Given the description of an element on the screen output the (x, y) to click on. 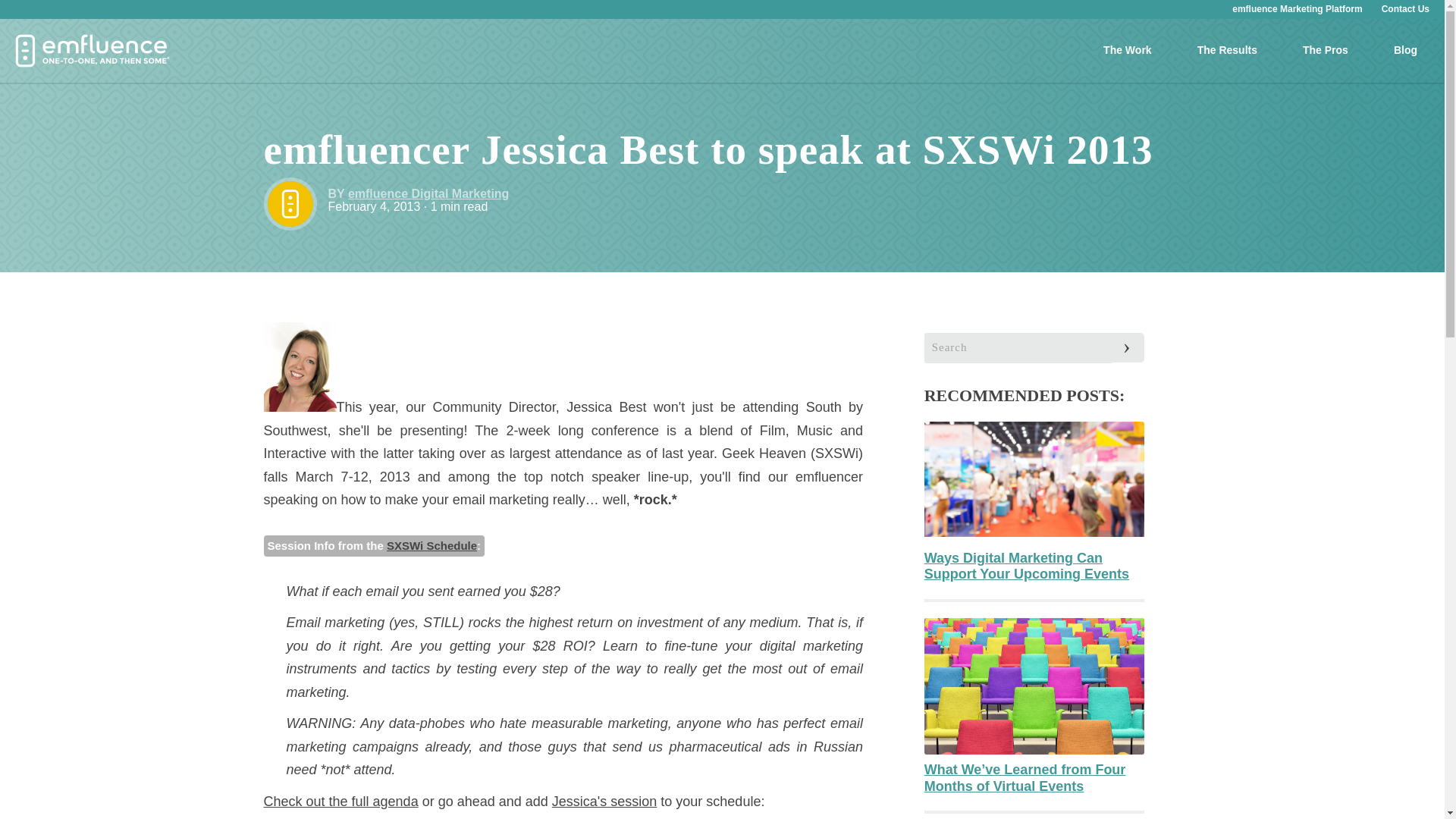
SXSW 2013 (341, 801)
Jessica's email marketing session at SXSWi 2013 (432, 545)
Contact Us (1405, 9)
The Work (1126, 50)
emfluence Marketing Platform (1296, 9)
